Given the description of an element on the screen output the (x, y) to click on. 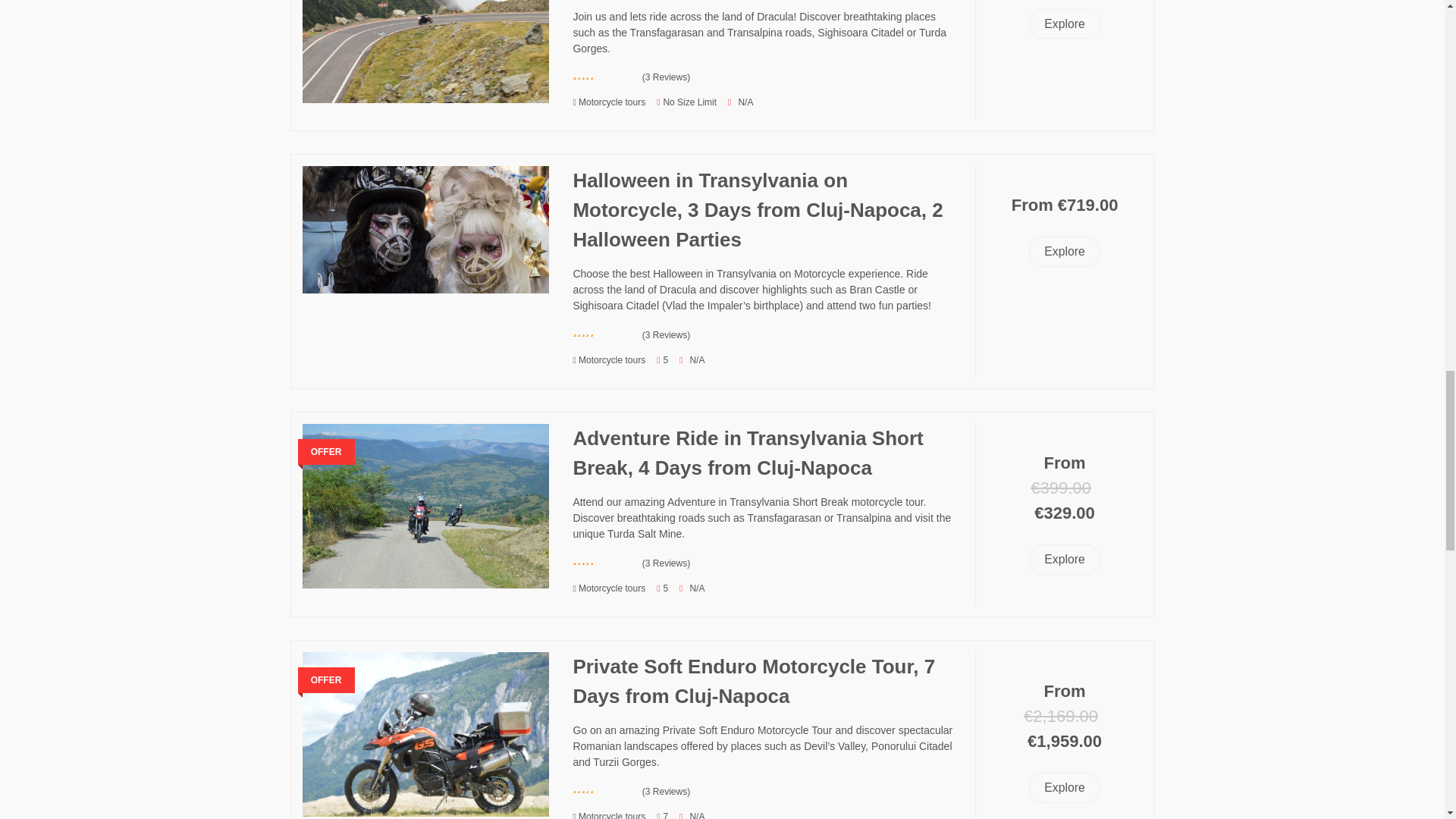
Rated 5 out of 5 (603, 331)
Rated 5 out of 5 (603, 559)
Rated 5 out of 5 (603, 74)
